Given the description of an element on the screen output the (x, y) to click on. 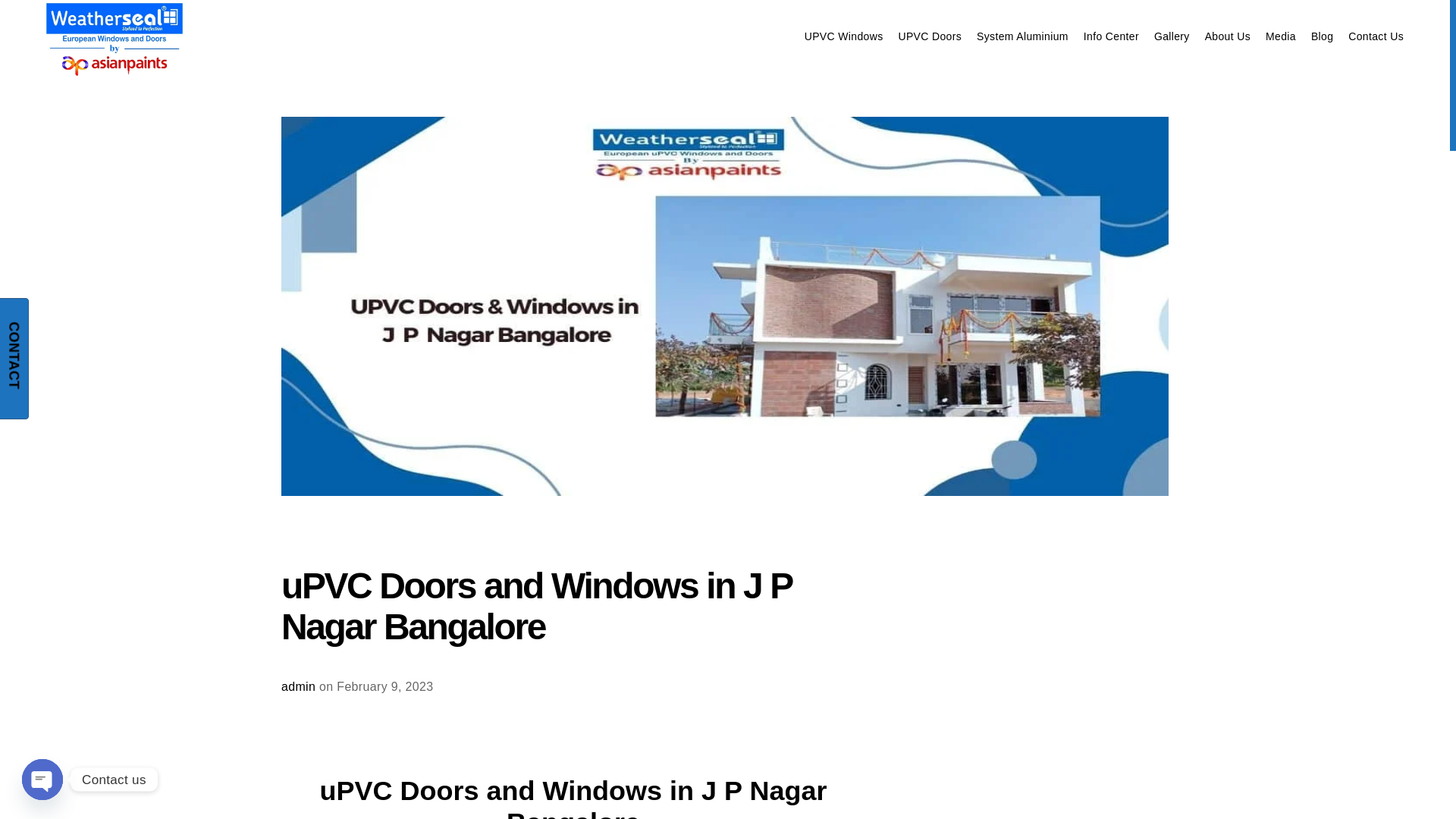
UPVC Windows (844, 36)
